Given the description of an element on the screen output the (x, y) to click on. 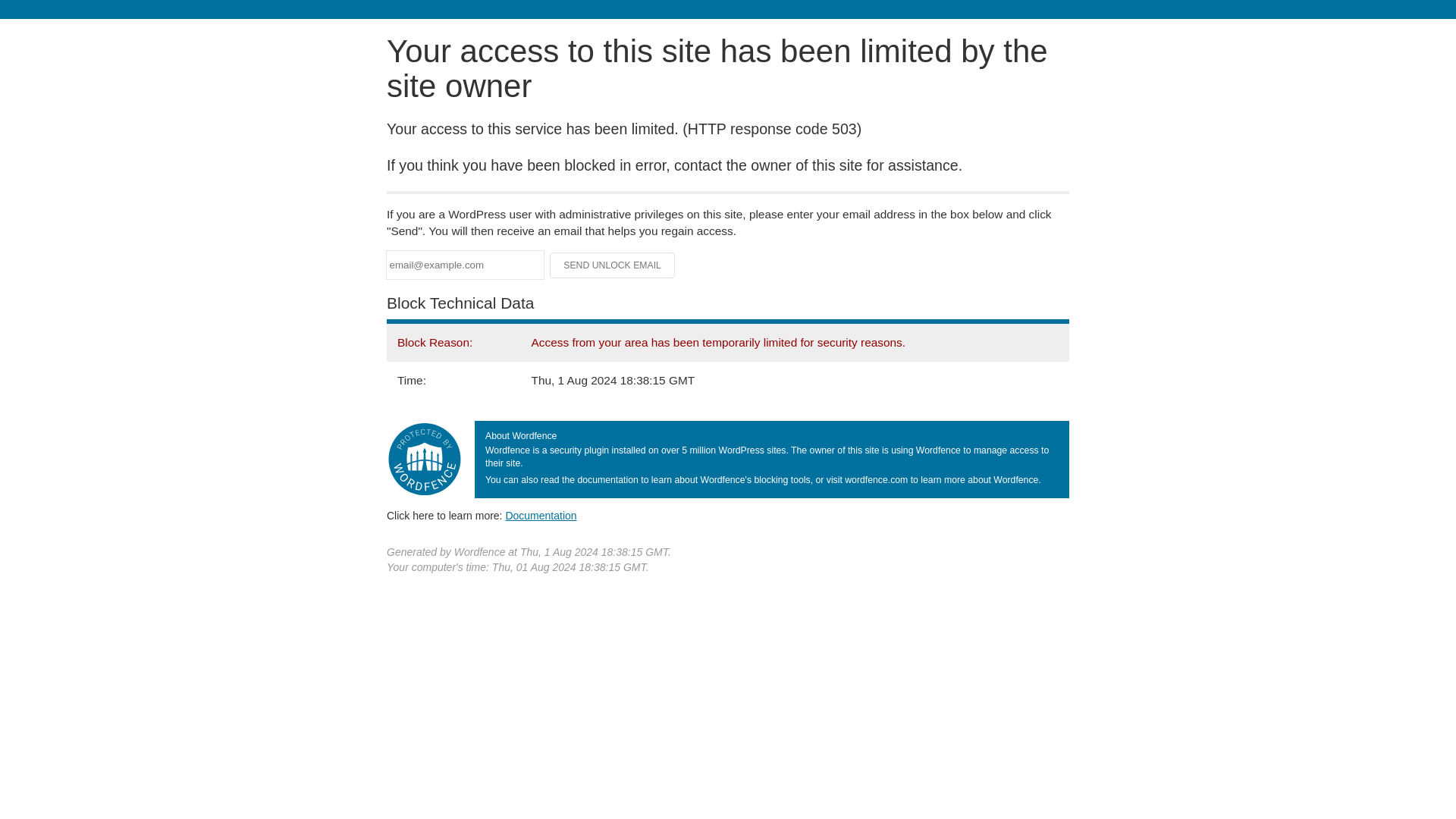
Documentation (540, 515)
Send Unlock Email (612, 265)
Send Unlock Email (612, 265)
